Given the description of an element on the screen output the (x, y) to click on. 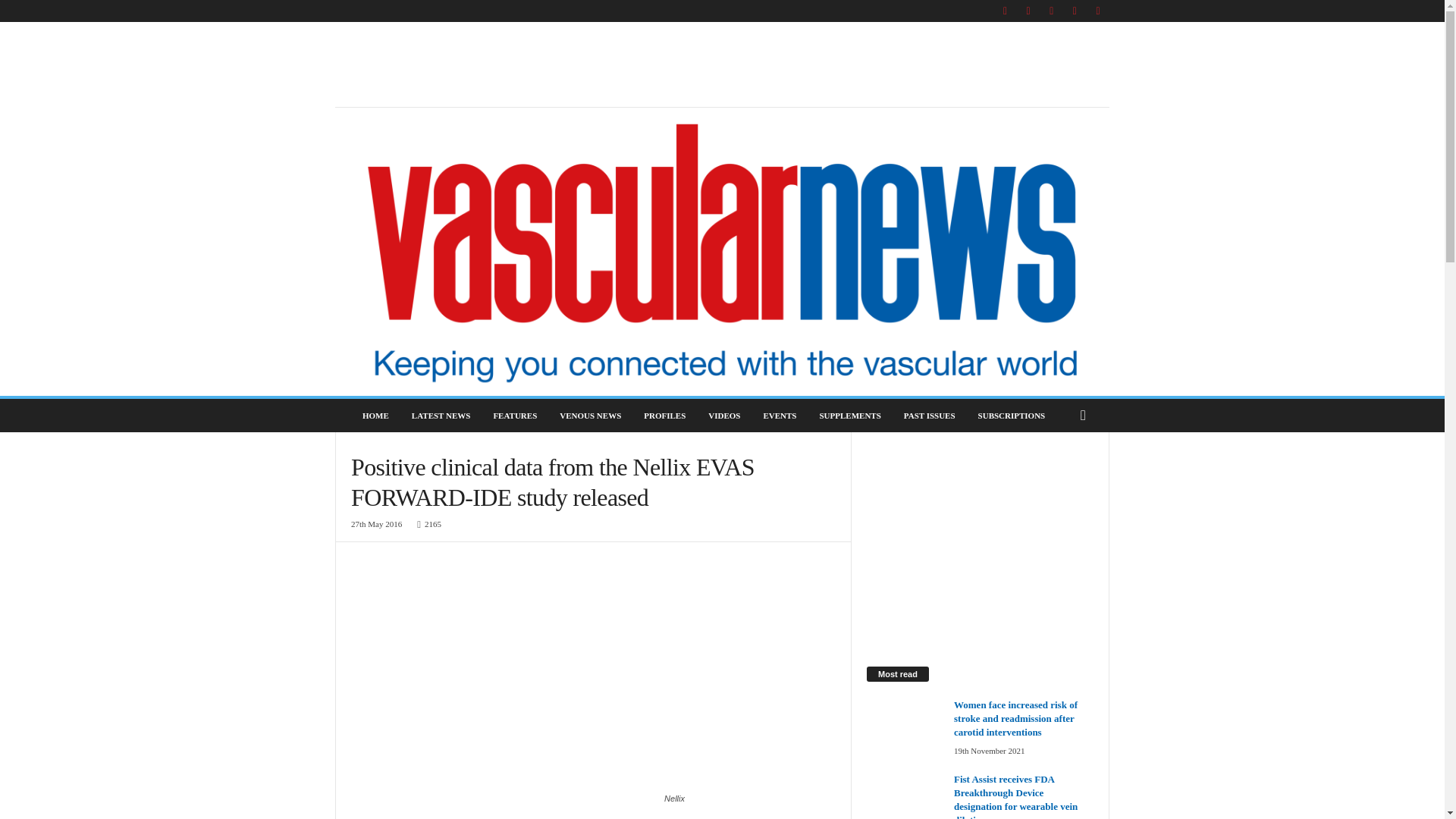
VENOUS NEWS (589, 415)
FEATURES (514, 415)
PAST ISSUES (929, 415)
EVENTS (779, 415)
PROFILES (664, 415)
HOME (375, 415)
VIDEOS (724, 415)
LATEST NEWS (440, 415)
SUBSCRIPTIONS (1011, 415)
